Given the description of an element on the screen output the (x, y) to click on. 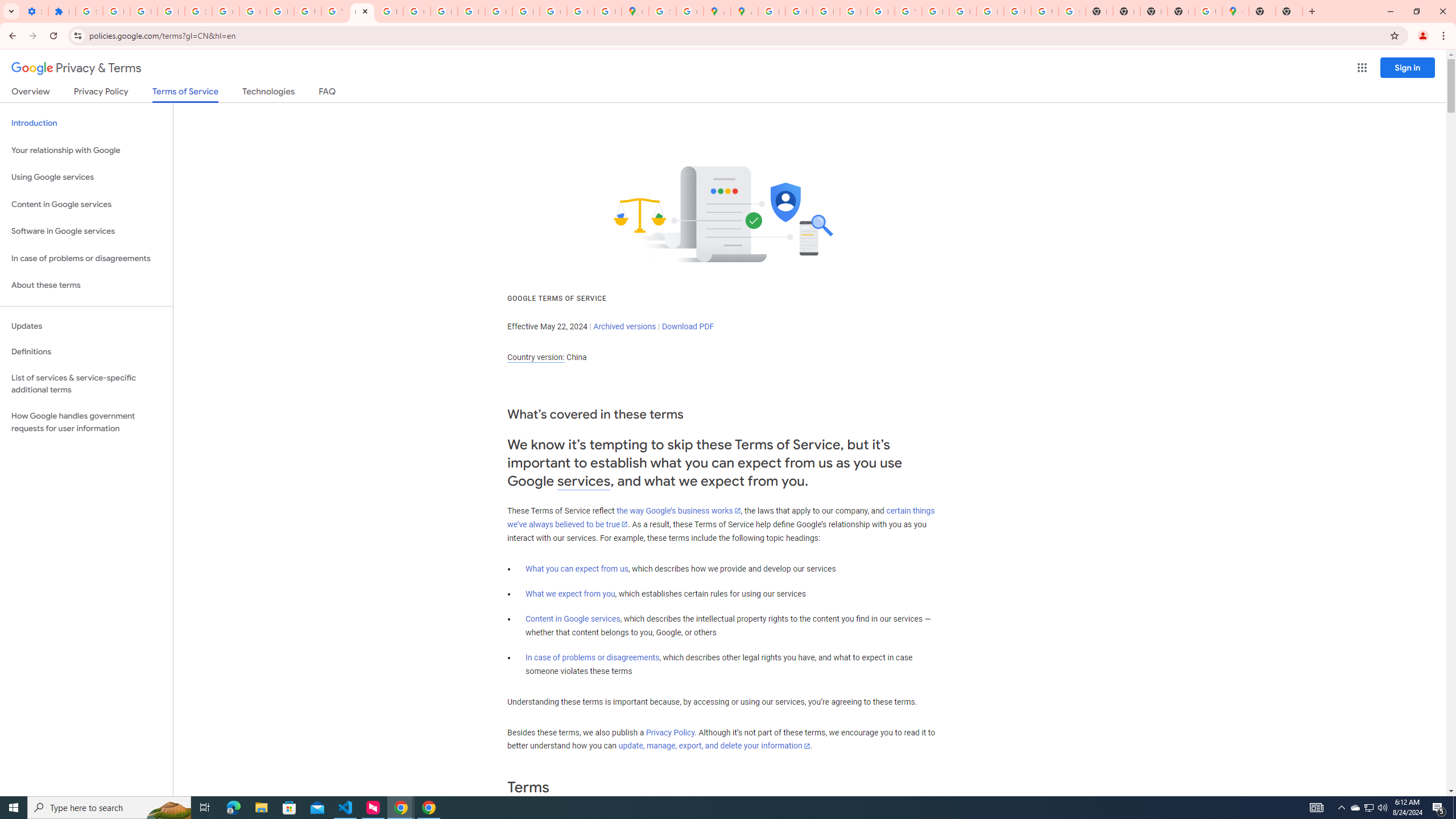
YouTube (334, 11)
Country version: (535, 357)
update, manage, export, and delete your information (714, 746)
Using Google services (86, 176)
Settings - On startup (34, 11)
Google Account Help (225, 11)
